Given the description of an element on the screen output the (x, y) to click on. 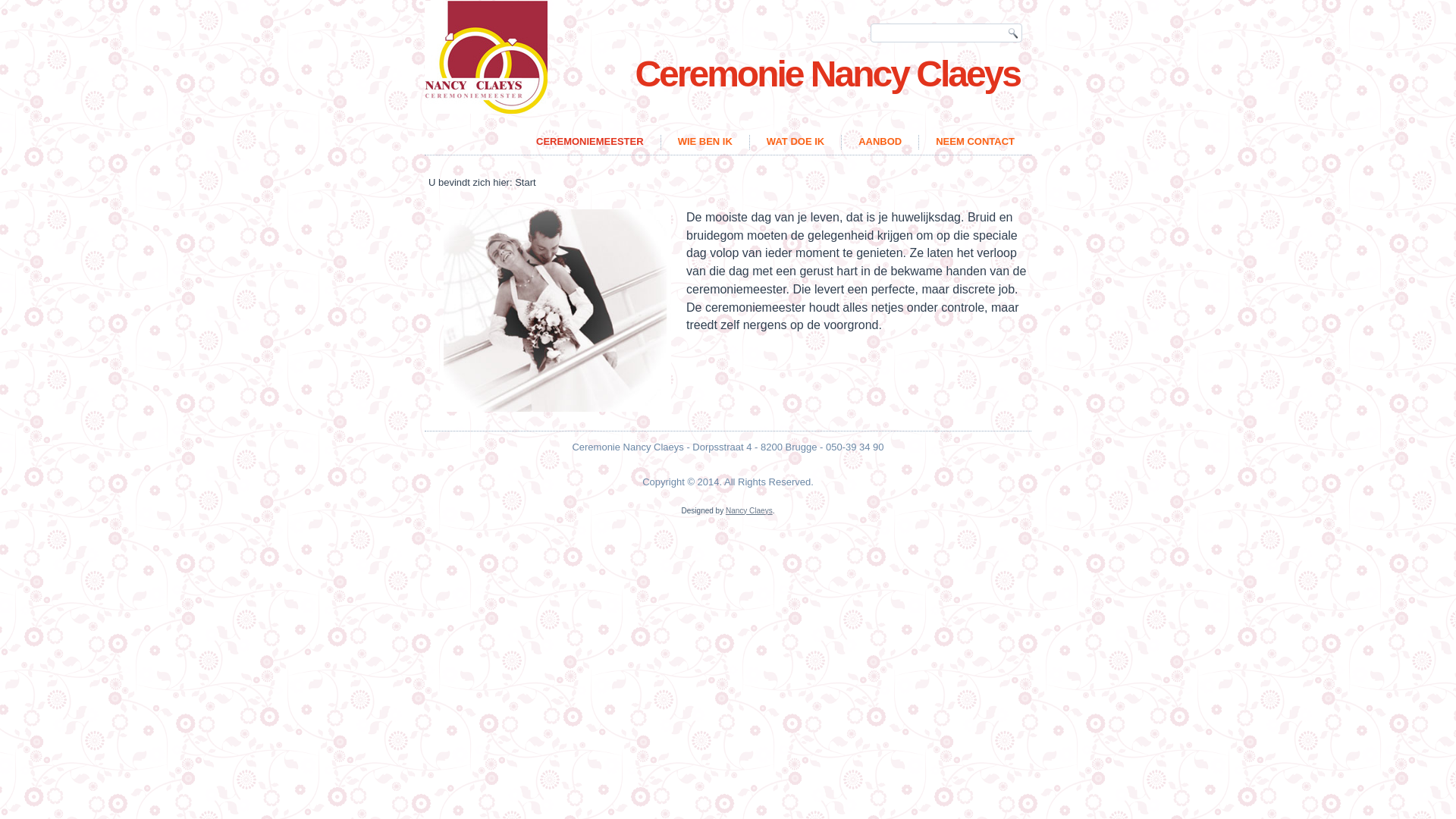
CEREMONIEMEESTER Element type: text (589, 141)
NEEM CONTACT Element type: text (974, 141)
WIE BEN IK Element type: text (705, 141)
WAT DOE IK Element type: text (795, 141)
Ceremonie Nancy Claeys Element type: text (826, 73)
AANBOD Element type: text (879, 141)
Nancy Claeys Element type: text (748, 510)
